Given the description of an element on the screen output the (x, y) to click on. 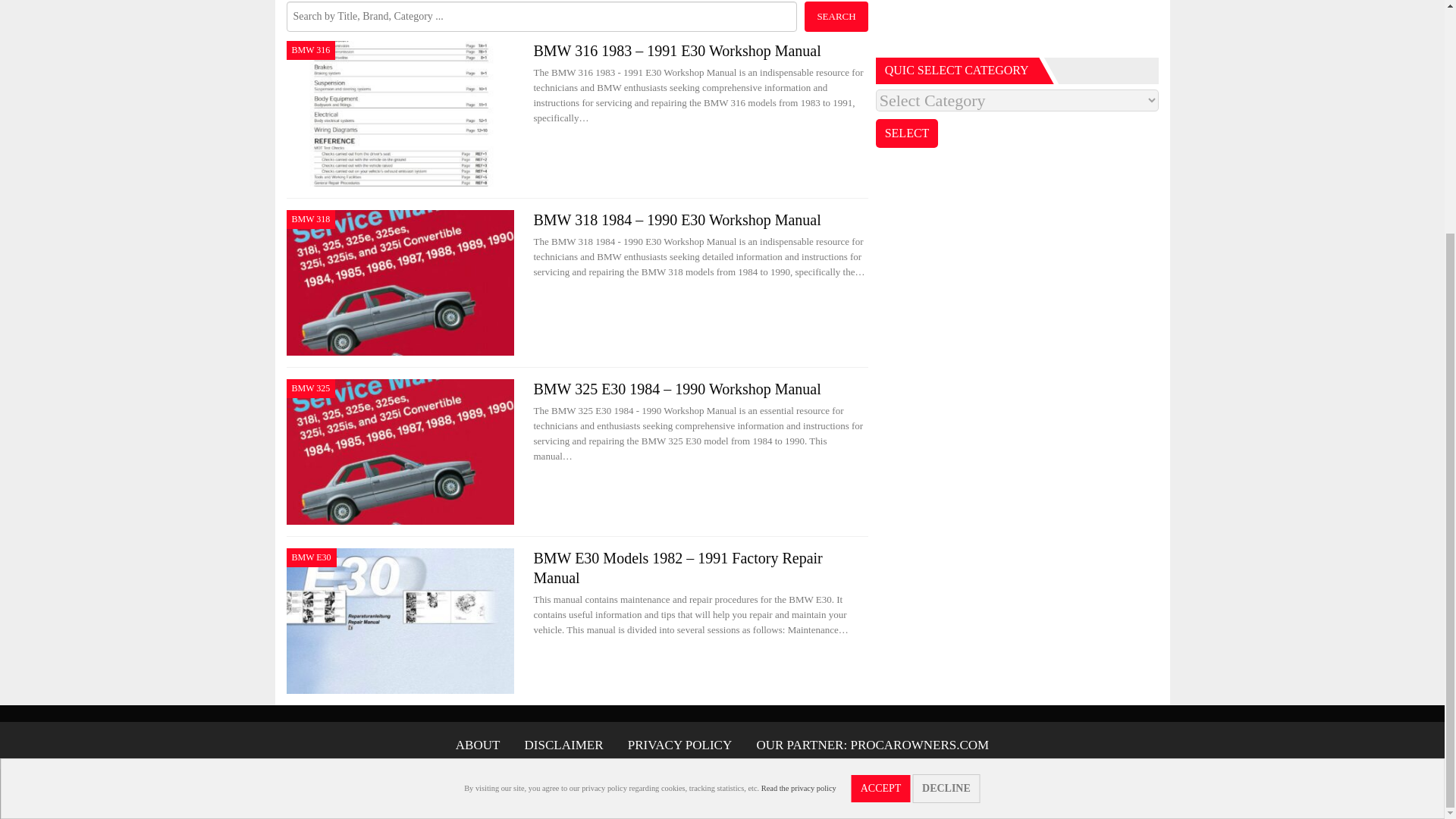
Advertisement (1017, 24)
Read the privacy policy (798, 470)
DECLINE (945, 470)
ACCEPT (881, 470)
